Given the description of an element on the screen output the (x, y) to click on. 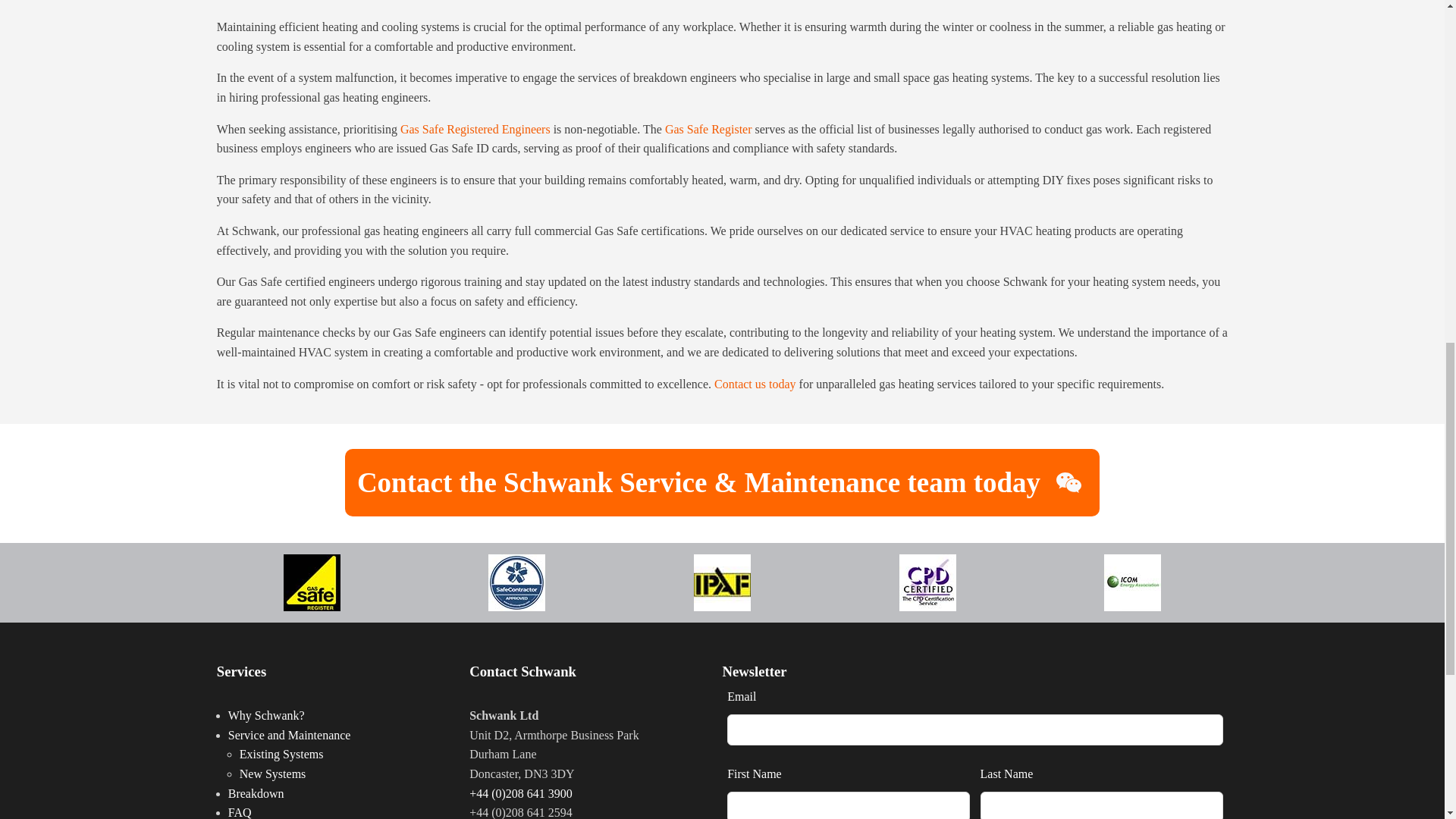
Gas Safe Register (708, 128)
FAQ (239, 812)
Contact us today (755, 383)
Gas Safe Registered Engineers (475, 128)
New Systems (272, 773)
Why Schwank? (266, 715)
Existing Systems (281, 753)
Breakdown (255, 793)
Service and Maintenance (289, 735)
